Given the description of an element on the screen output the (x, y) to click on. 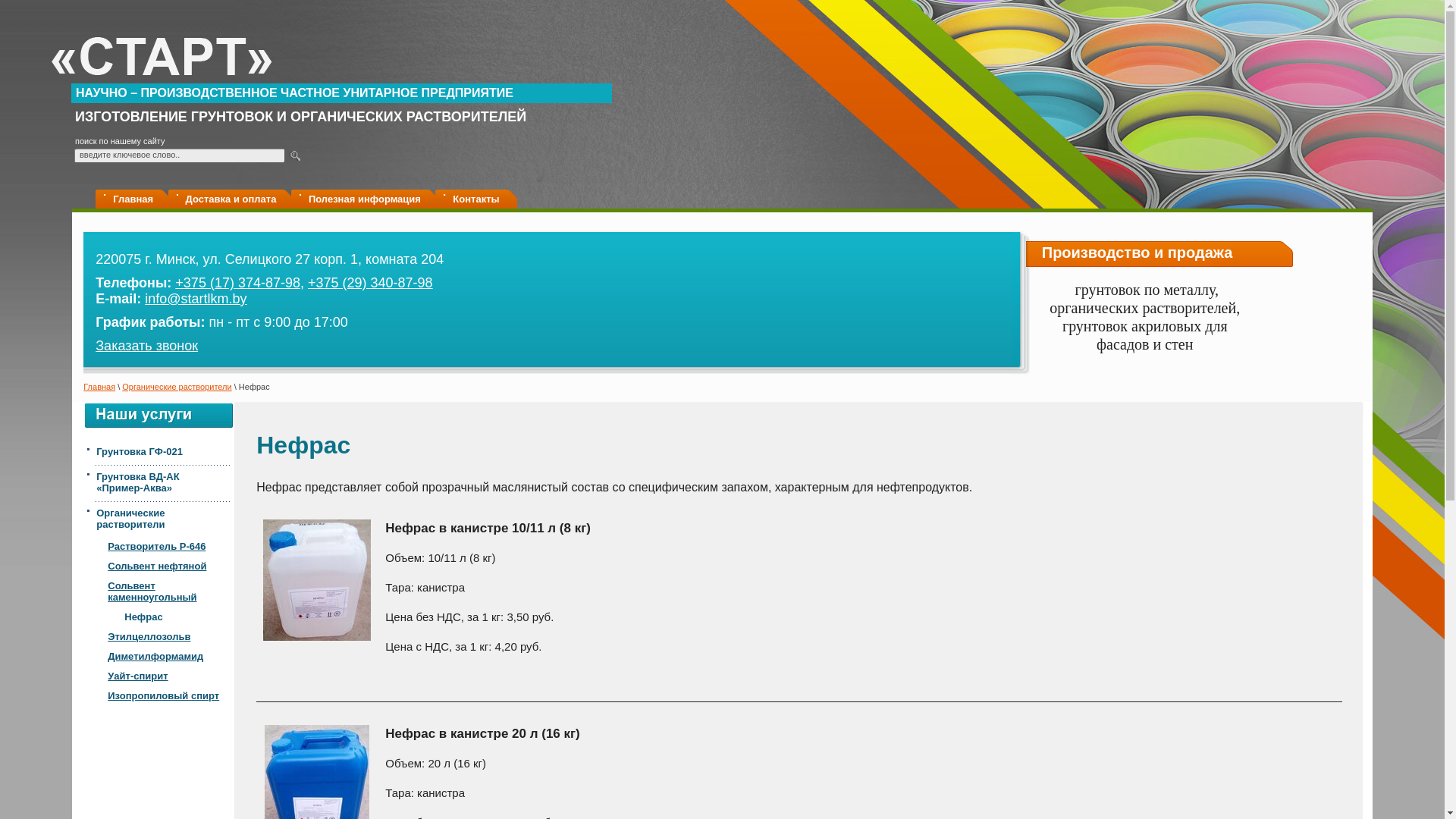
+375 (17) 374-87-98 Element type: text (237, 282)
info@startlkm.by Element type: text (195, 298)
+375 (29) 340-87-98 Element type: text (370, 282)
